Given the description of an element on the screen output the (x, y) to click on. 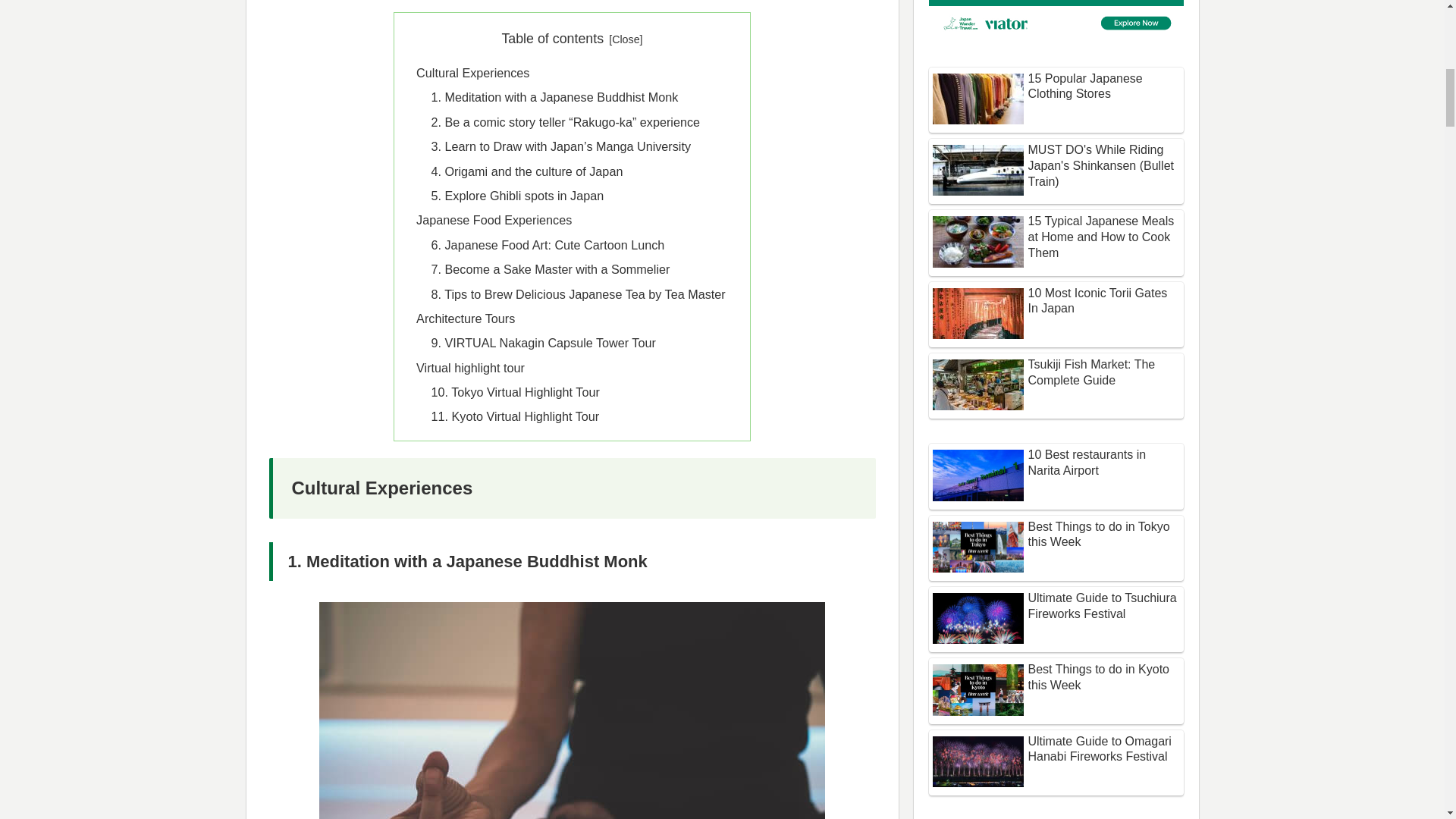
15 Popular Japanese Clothing Stores (1055, 99)
